Given the description of an element on the screen output the (x, y) to click on. 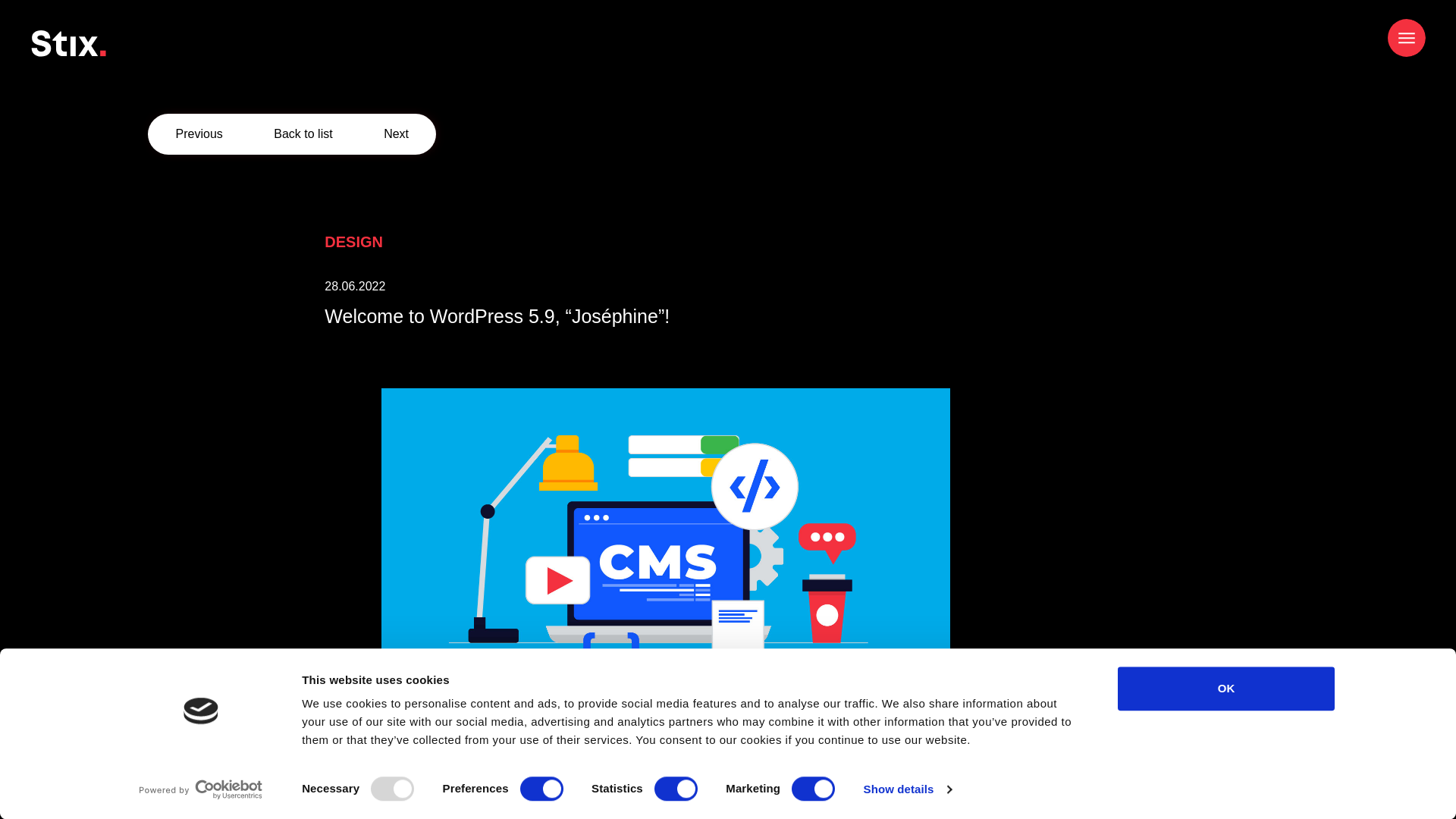
Back to list (302, 133)
Next (396, 133)
OK (1226, 688)
Previous (199, 133)
Show details (907, 789)
